Given the description of an element on the screen output the (x, y) to click on. 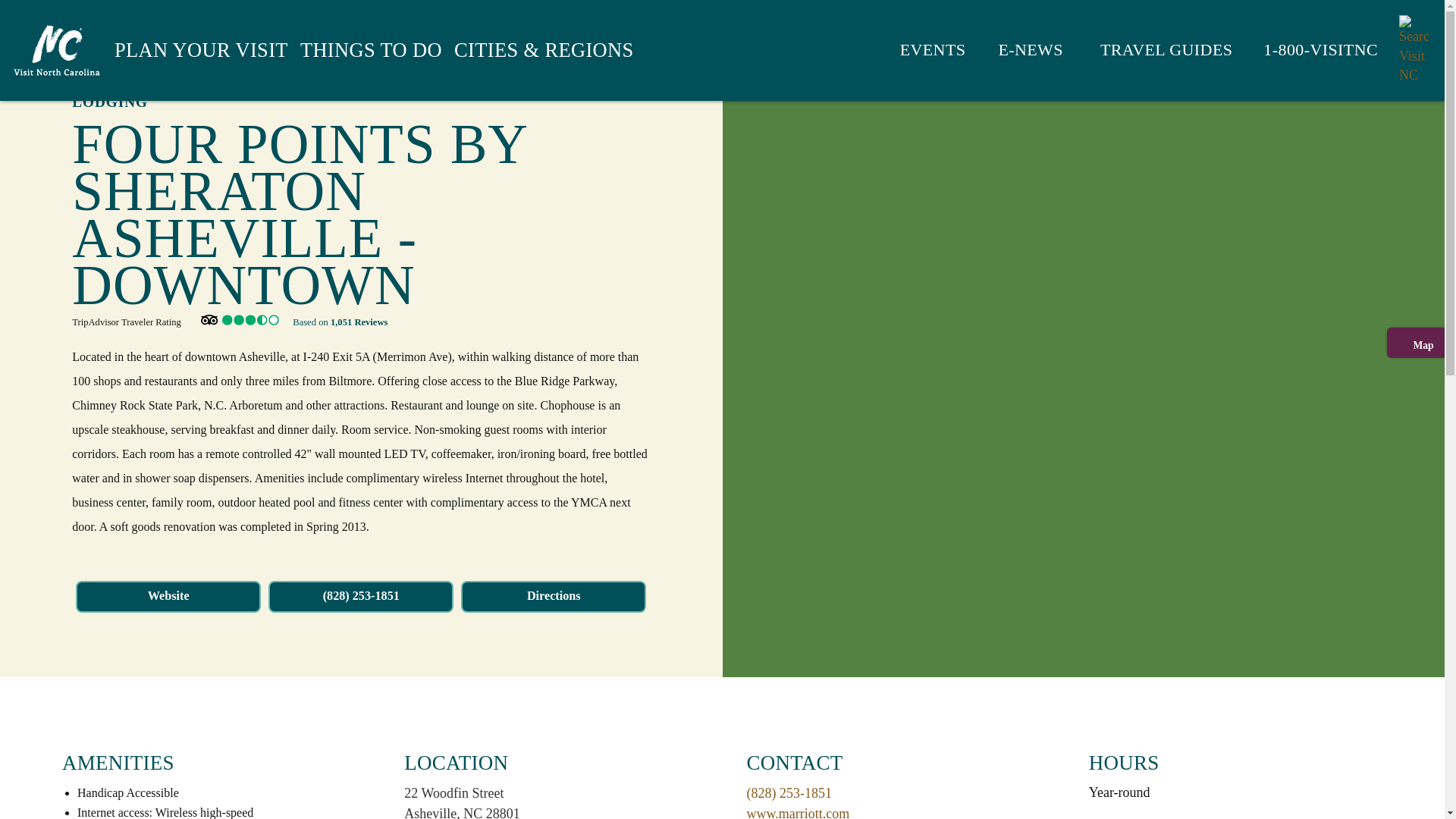
Website (167, 595)
Based on 1,051 Reviews (291, 321)
EVENTS (923, 49)
1-800-VISITNC (1310, 49)
www.marriott.com (796, 812)
PLAN YOUR VISIT (201, 50)
E-NEWS (1019, 49)
Directions (553, 595)
TRAVEL GUIDES (1153, 49)
Call 1-800-VisitNC for NC travel information (1310, 49)
